Given the description of an element on the screen output the (x, y) to click on. 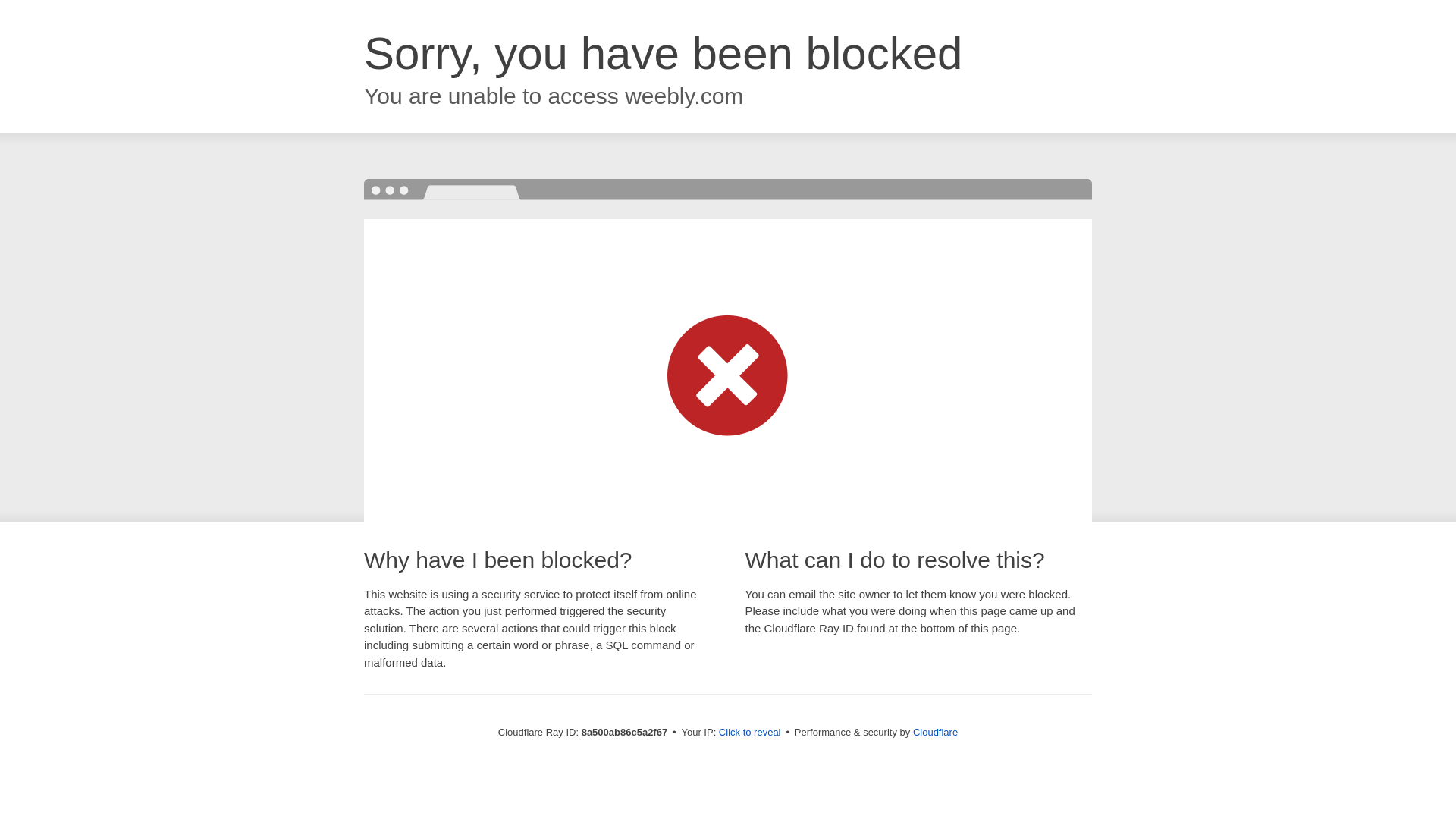
Click to reveal (749, 732)
Cloudflare (935, 731)
